Given the description of an element on the screen output the (x, y) to click on. 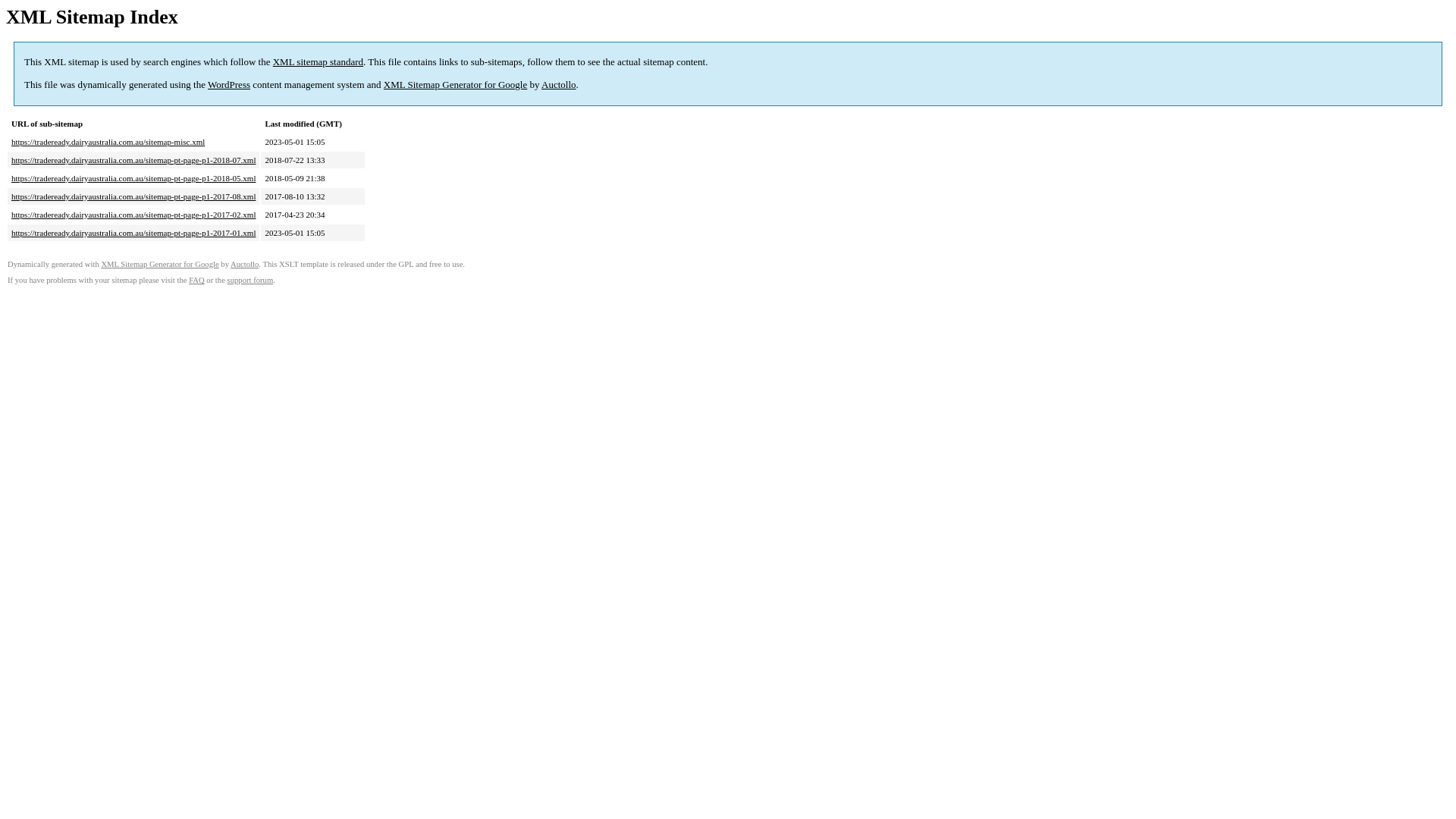
support forum Element type: text (250, 280)
WordPress Element type: text (228, 84)
Auctollo Element type: text (244, 264)
XML Sitemap Generator for Google Element type: text (455, 84)
https://tradeready.dairyaustralia.com.au/sitemap-misc.xml Element type: text (107, 141)
XML Sitemap Generator for Google Element type: text (159, 264)
Auctollo Element type: text (558, 84)
FAQ Element type: text (196, 280)
XML sitemap standard Element type: text (318, 61)
